Given the description of an element on the screen output the (x, y) to click on. 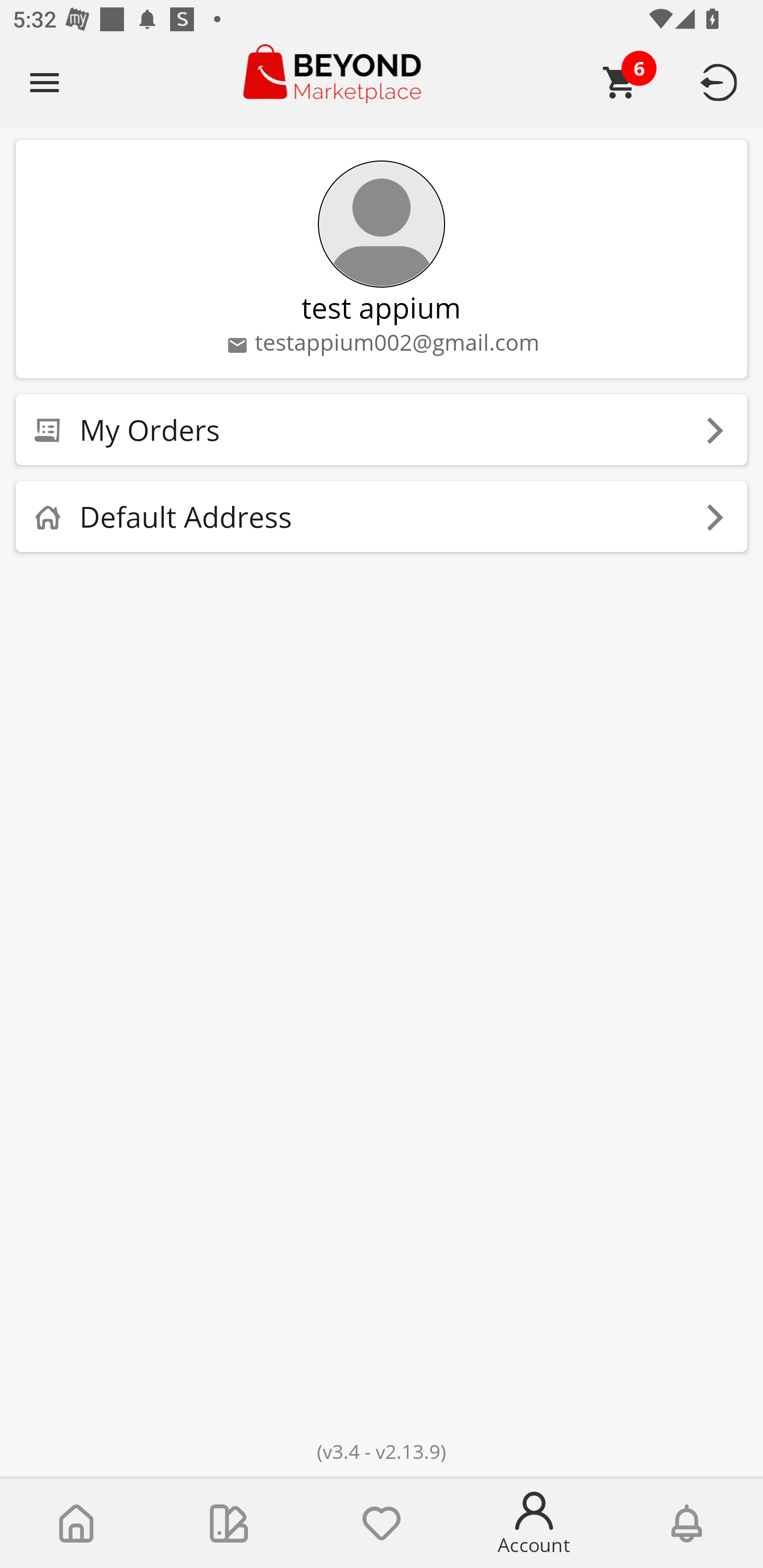
Navigate up (44, 82)
LOGOUT (721, 81)
Home (76, 1523)
Collections (228, 1523)
Wishlist (381, 1523)
Notifications (686, 1523)
